Given the description of an element on the screen output the (x, y) to click on. 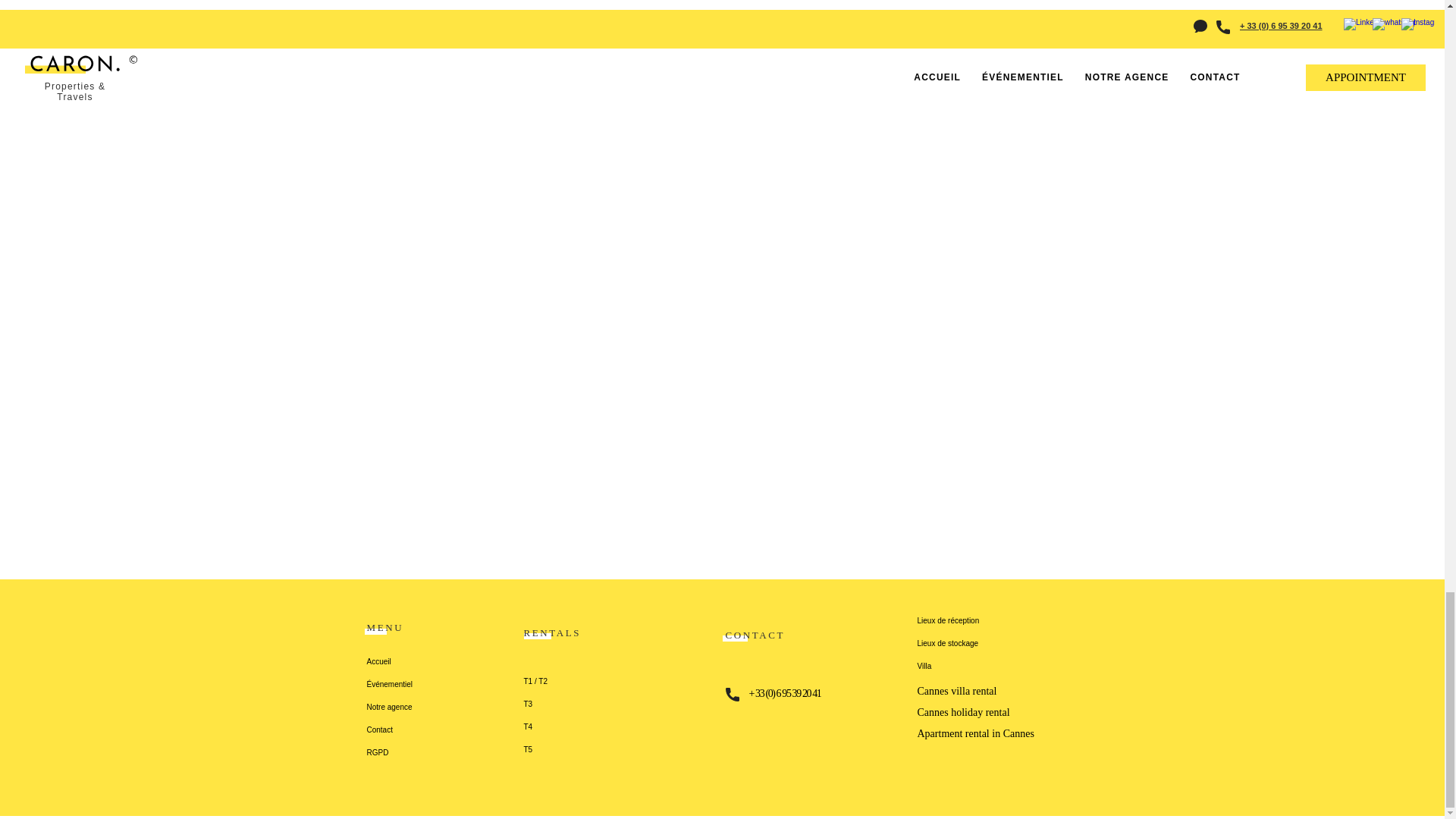
Accueil (465, 661)
T3 (545, 703)
T4 (545, 726)
Villa (1000, 666)
Contact (465, 730)
Cannes holiday rental (963, 712)
Notre agence (465, 707)
Apartment rental in Cannes (975, 733)
T5 (545, 749)
RGPD (465, 753)
